Given the description of an element on the screen output the (x, y) to click on. 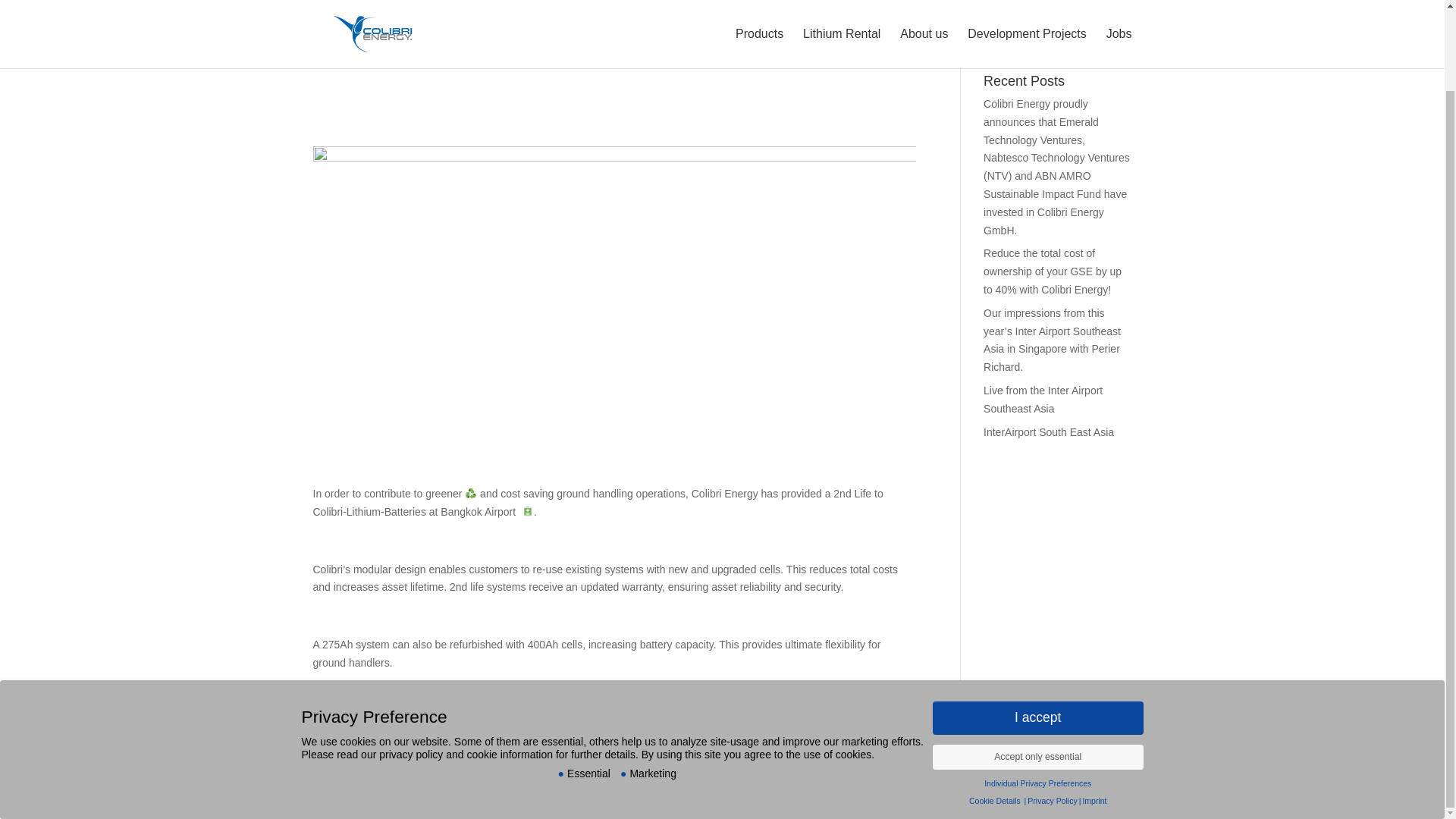
InterAirport South East Asia (1048, 431)
Individual Privacy Preferences (1037, 691)
Privacy Policy (1052, 709)
Accept only essential (1037, 666)
I accept (1037, 626)
Imprint (1093, 709)
Live from the Inter Airport Southeast Asia (1043, 399)
Search (1104, 36)
Search (1104, 36)
Cookie Details (994, 709)
